Given the description of an element on the screen output the (x, y) to click on. 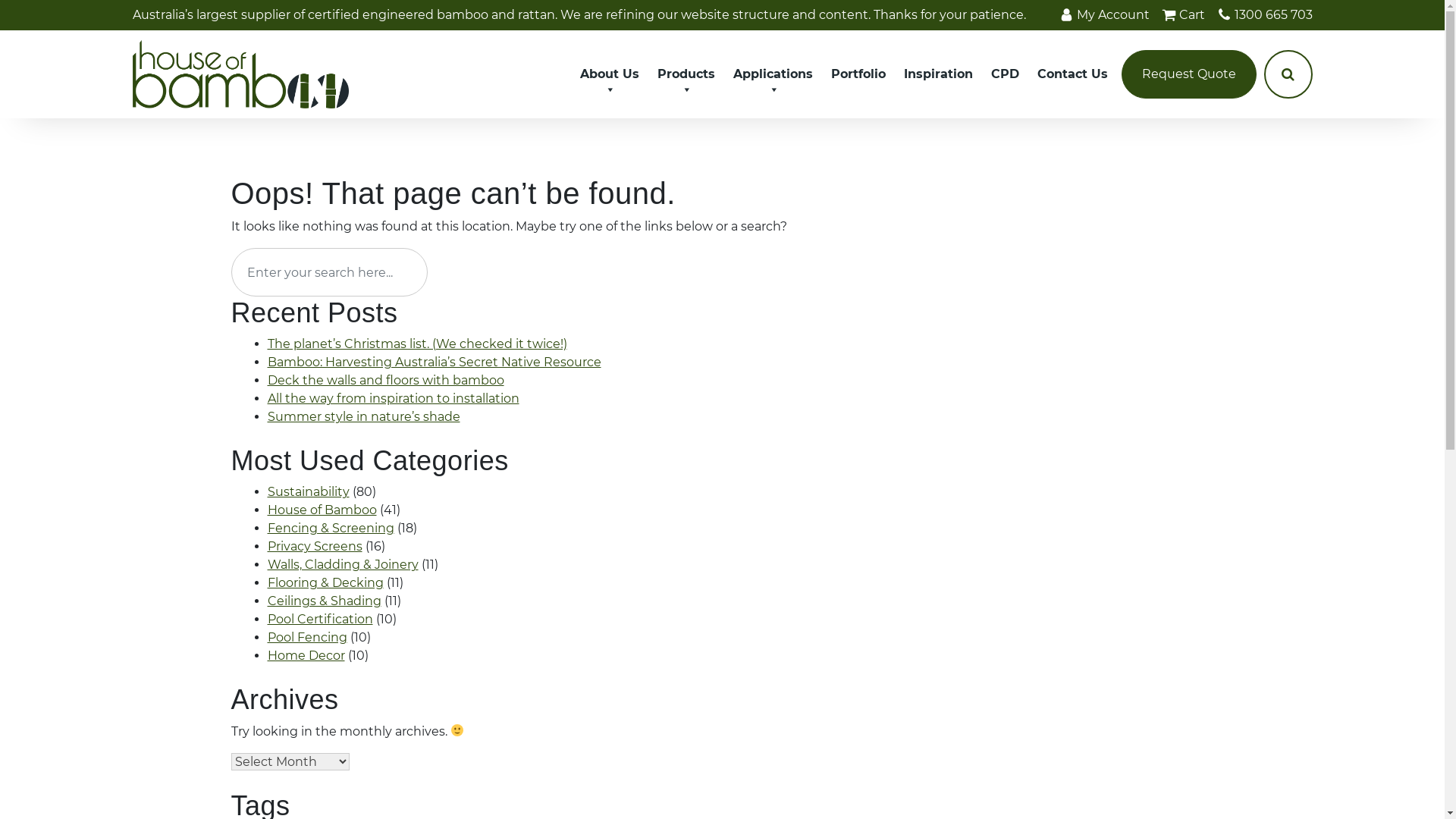
Home Decor Element type: text (305, 655)
Privacy Screens Element type: text (313, 546)
Deck the walls and floors with bamboo Element type: text (384, 380)
Pool Fencing Element type: text (306, 637)
phone 1300 665 703 Element type: text (1263, 14)
About Us Element type: text (609, 74)
user My Account Element type: text (1104, 14)
Inspiration Element type: text (938, 74)
Sustainability Element type: text (307, 491)
CPD Element type: text (1005, 74)
Contact Us Element type: text (1072, 74)
Portfolio Element type: text (858, 74)
Applications Element type: text (773, 74)
Ceilings & Shading Element type: text (323, 600)
Walls, Cladding & Joinery Element type: text (341, 564)
Products Element type: text (686, 74)
Request Quote Element type: text (1188, 74)
All the way from inspiration to installation Element type: text (392, 398)
Fencing & Screening Element type: text (329, 527)
Pool Certification Element type: text (319, 618)
shopping-cart Cart Element type: text (1184, 14)
House of Bamboo Element type: text (321, 509)
Flooring & Decking Element type: text (324, 582)
